Given the description of an element on the screen output the (x, y) to click on. 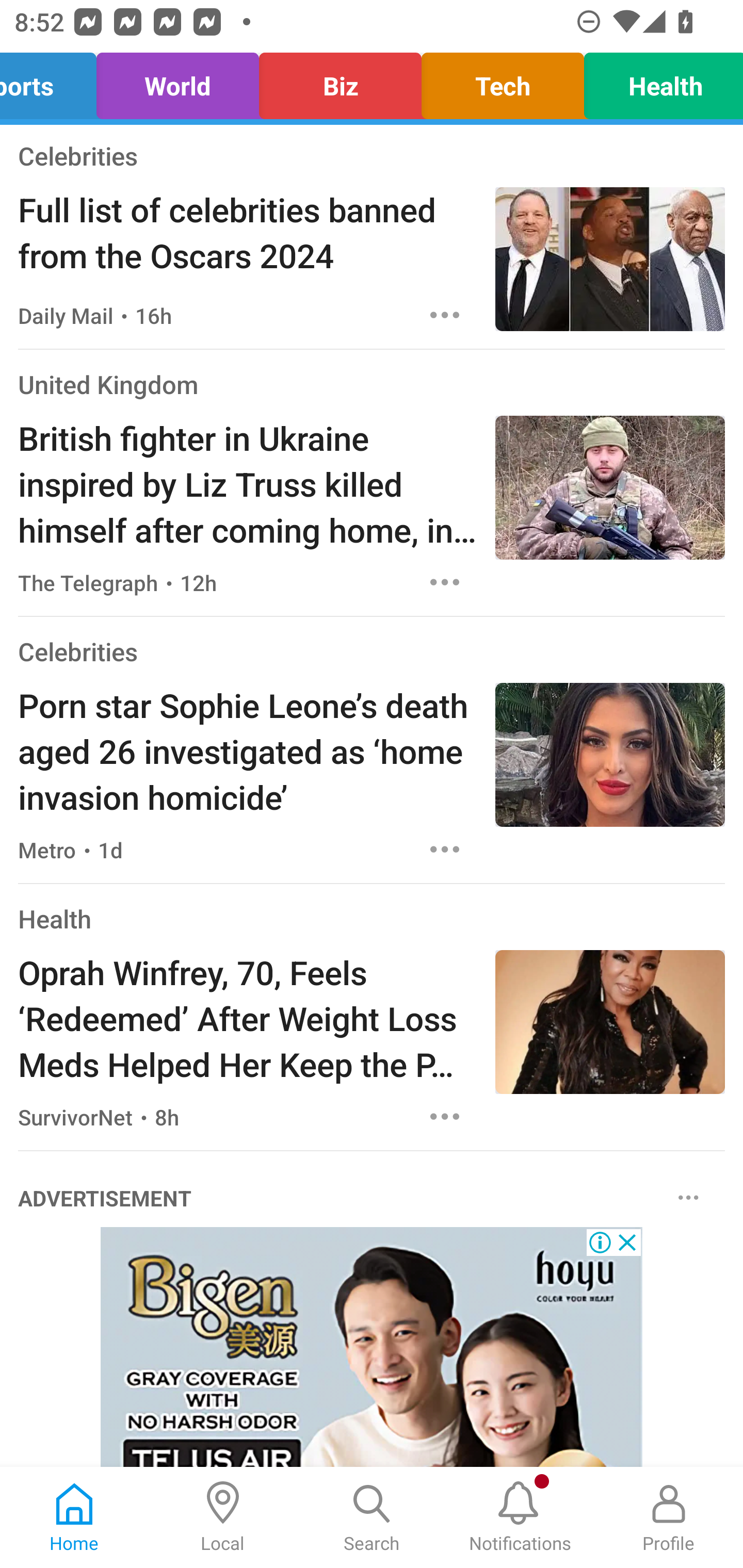
World (177, 81)
Biz (340, 81)
Tech (502, 81)
Health (658, 81)
Celebrities (77, 154)
Options (444, 315)
United Kingdom (107, 383)
Options (444, 582)
Celebrities (77, 651)
Options (444, 849)
Health (54, 918)
Options (444, 1116)
Options (688, 1197)
8 (371, 1347)
Local (222, 1517)
Search (371, 1517)
Notifications, New notification Notifications (519, 1517)
Profile (668, 1517)
